Given the description of an element on the screen output the (x, y) to click on. 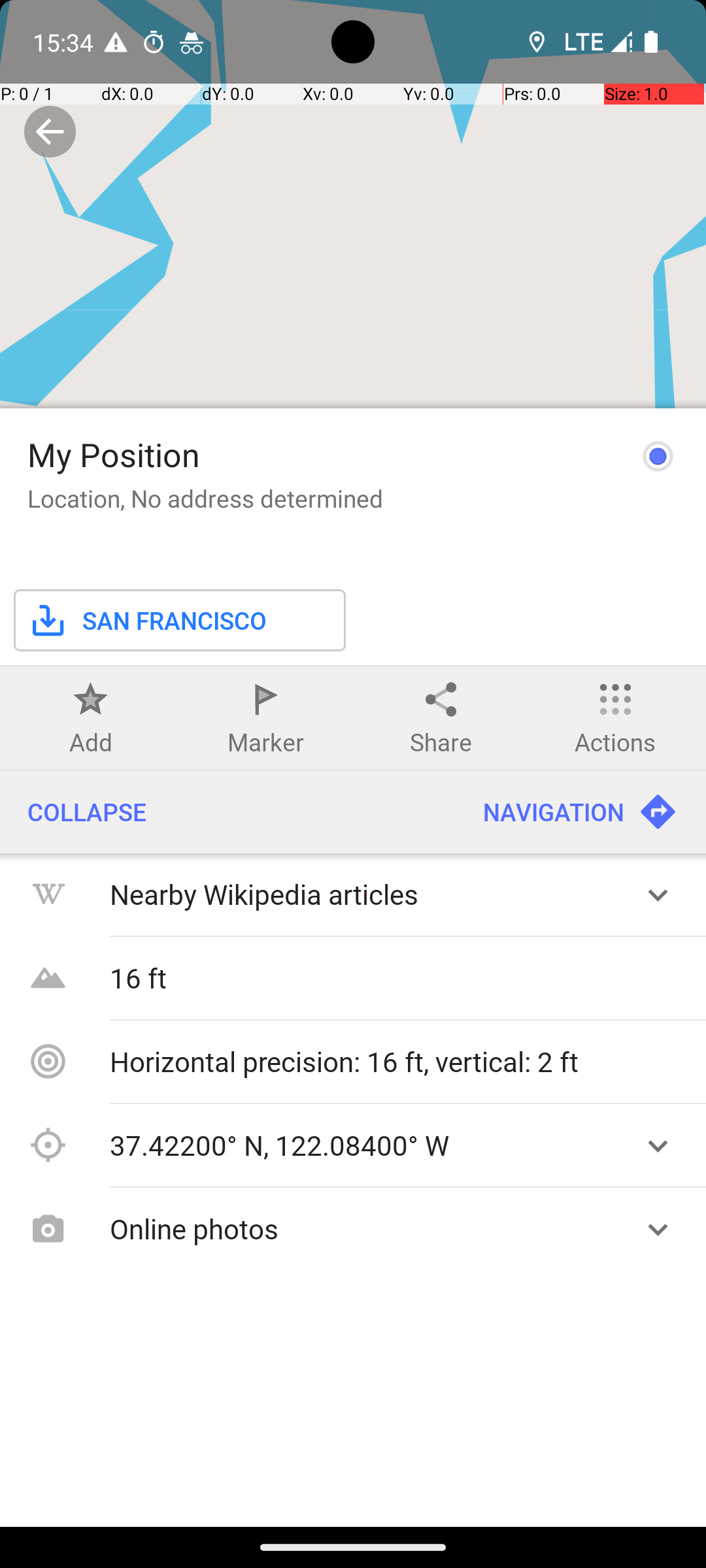
Collapse Element type: android.widget.ImageView (49, 131)
My Position Element type: android.widget.TextView (113, 454)
Location, No address determined Element type: android.widget.TextView (205, 497)
COLLAPSE Element type: android.widget.TextView (227, 811)
NAVIGATION Element type: android.widget.TextView (580, 811)
Add Element type: android.widget.TextView (90, 741)
Marker Element type: android.widget.TextView (265, 741)
SAN FRANCISCO Element type: android.widget.TextView (146, 620)
Nearby Wikipedia articles Element type: android.widget.TextView (364, 893)
16 ft Element type: android.widget.TextView (399, 977)
Horizontal precision: 16 ft, vertical: 2 ft Element type: android.widget.TextView (399, 1060)
37.42200° N, 122.08400° W Element type: android.widget.TextView (364, 1144)
Online photos Element type: android.widget.TextView (364, 1228)
